Given the description of an element on the screen output the (x, y) to click on. 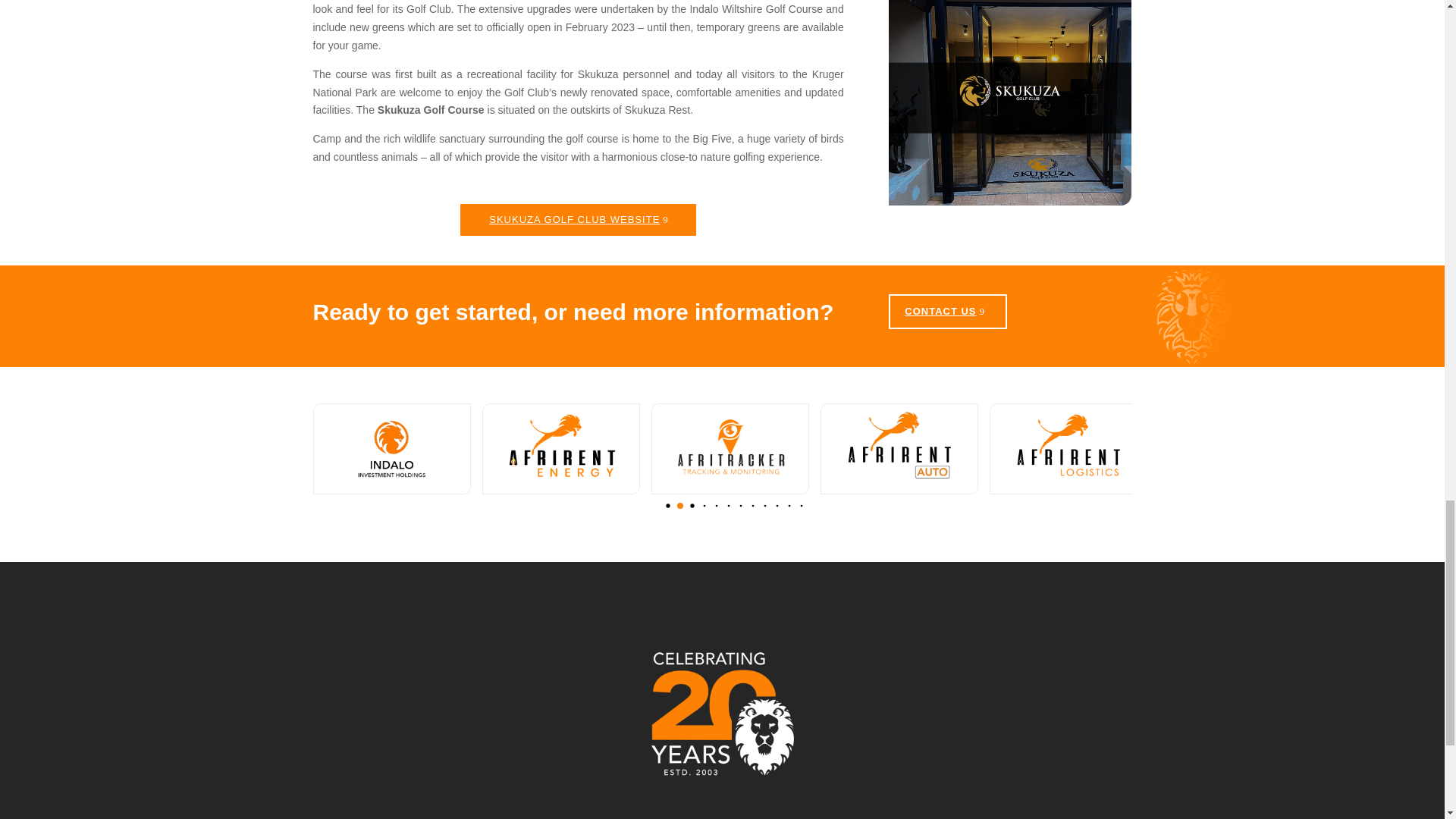
Afrirent Holdings - 20 Year Anniversary (721, 713)
Skukuza Golf Club (1009, 103)
